Given the description of an element on the screen output the (x, y) to click on. 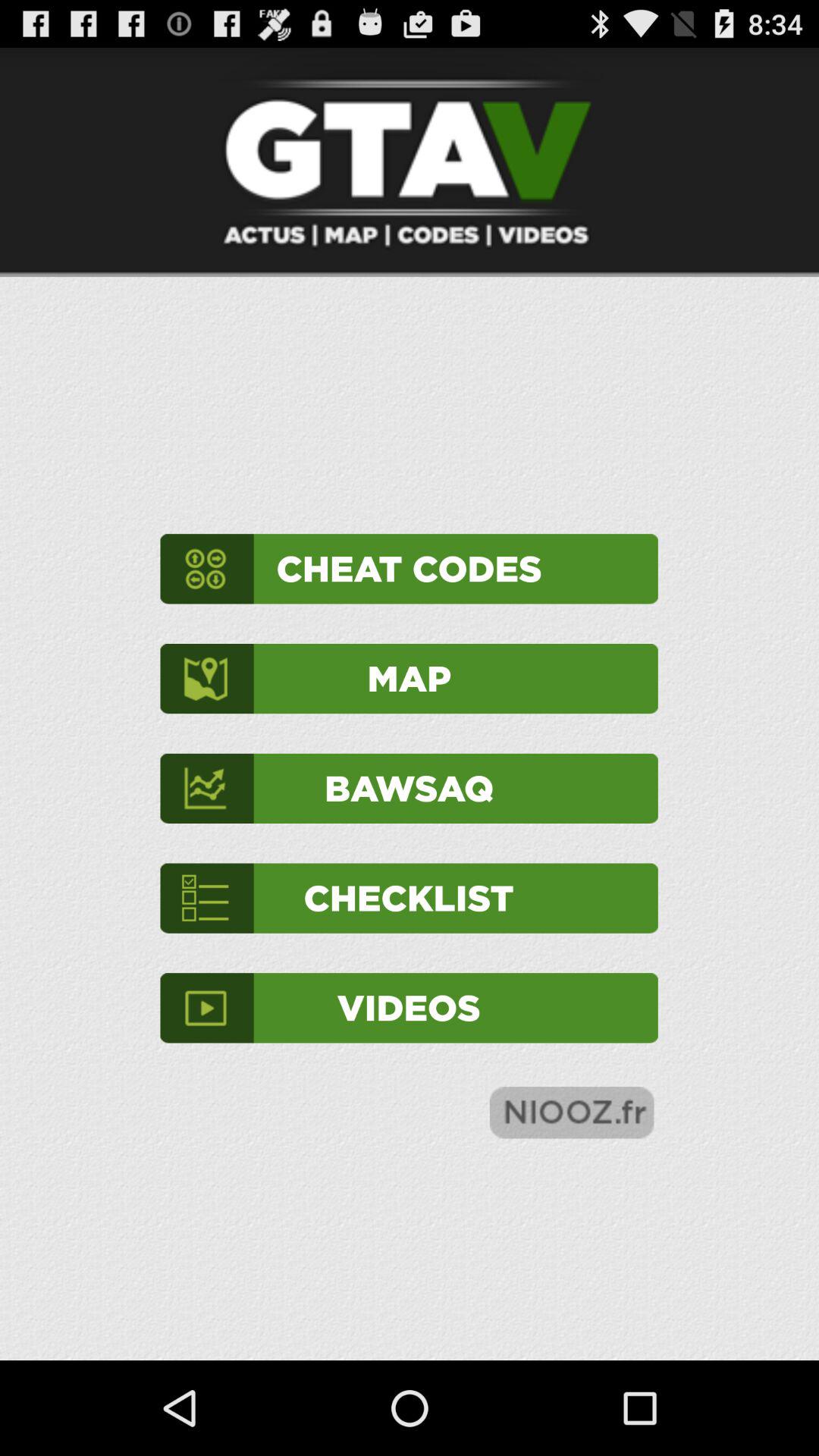
click the checklist (409, 898)
